Given the description of an element on the screen output the (x, y) to click on. 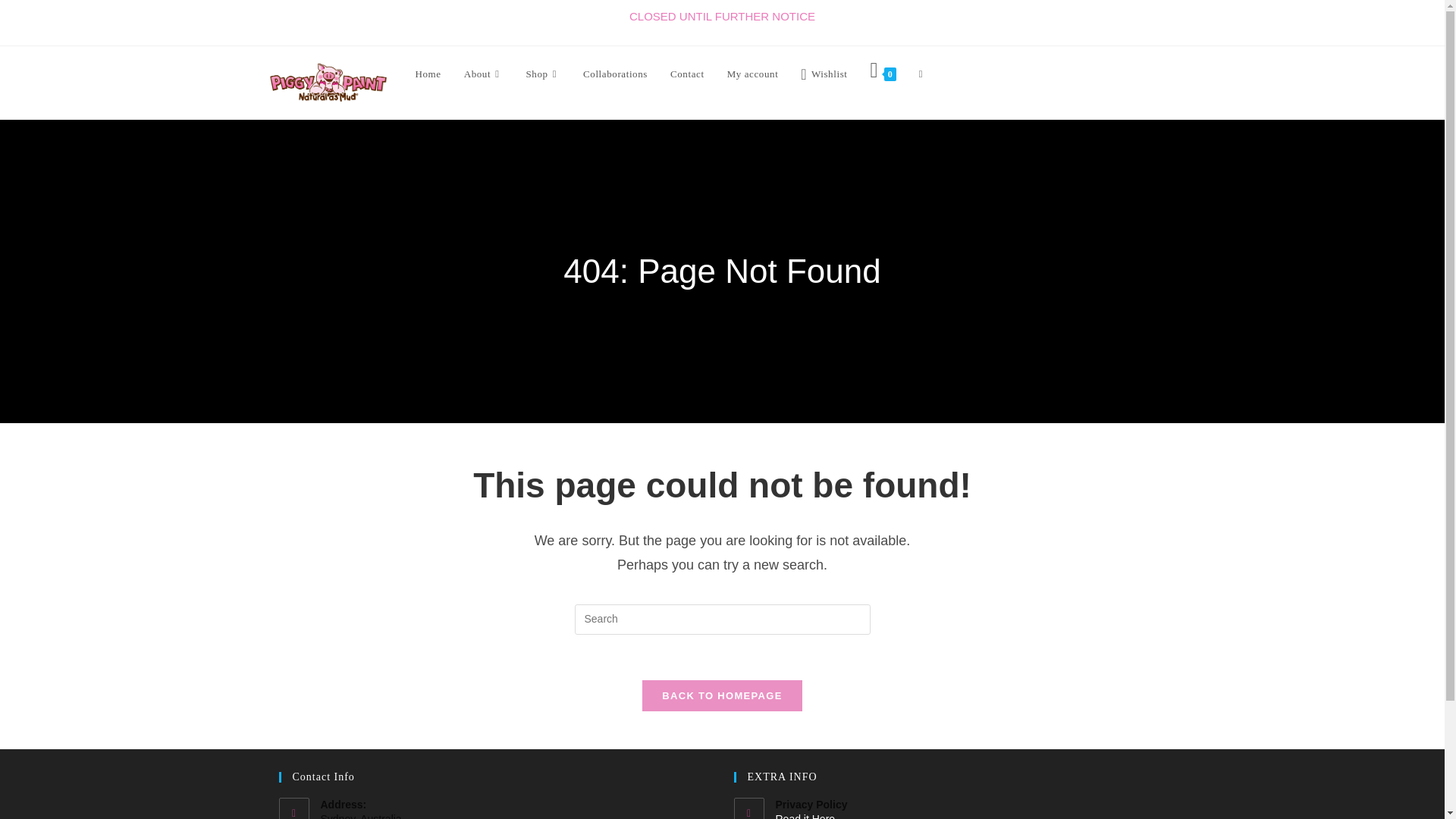
Collaborations (615, 73)
Wishlist (824, 73)
Contact (687, 73)
Shop (543, 73)
BACK TO HOMEPAGE (722, 695)
About (483, 73)
My account (753, 73)
Read it Here (970, 815)
CLOSED UNTIL FURTHER NOTICE (721, 16)
